Given the description of an element on the screen output the (x, y) to click on. 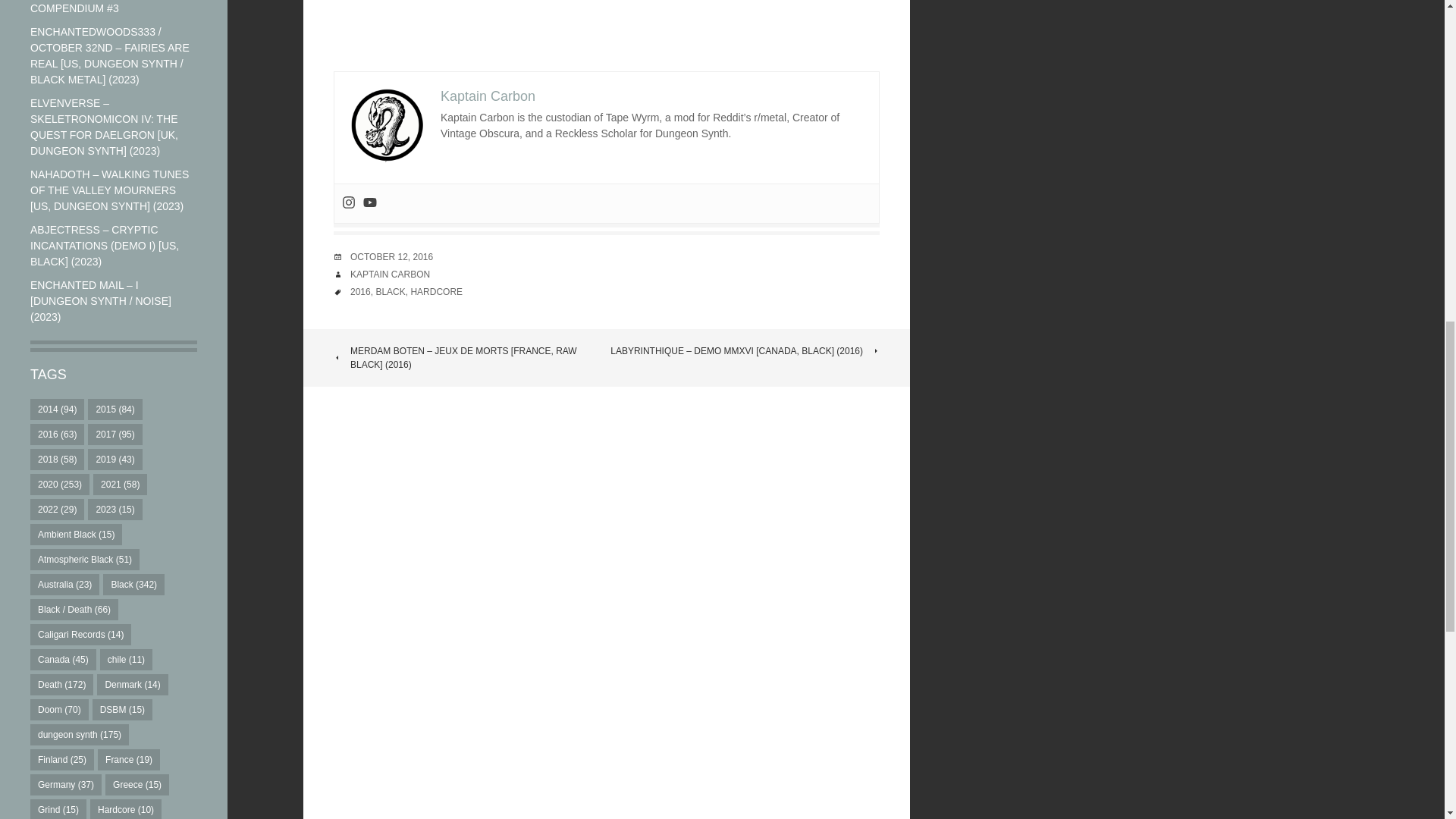
6:10 pm (391, 256)
View all posts by Kaptain Carbon (389, 274)
Youtube (369, 203)
Instagram (348, 203)
